Given the description of an element on the screen output the (x, y) to click on. 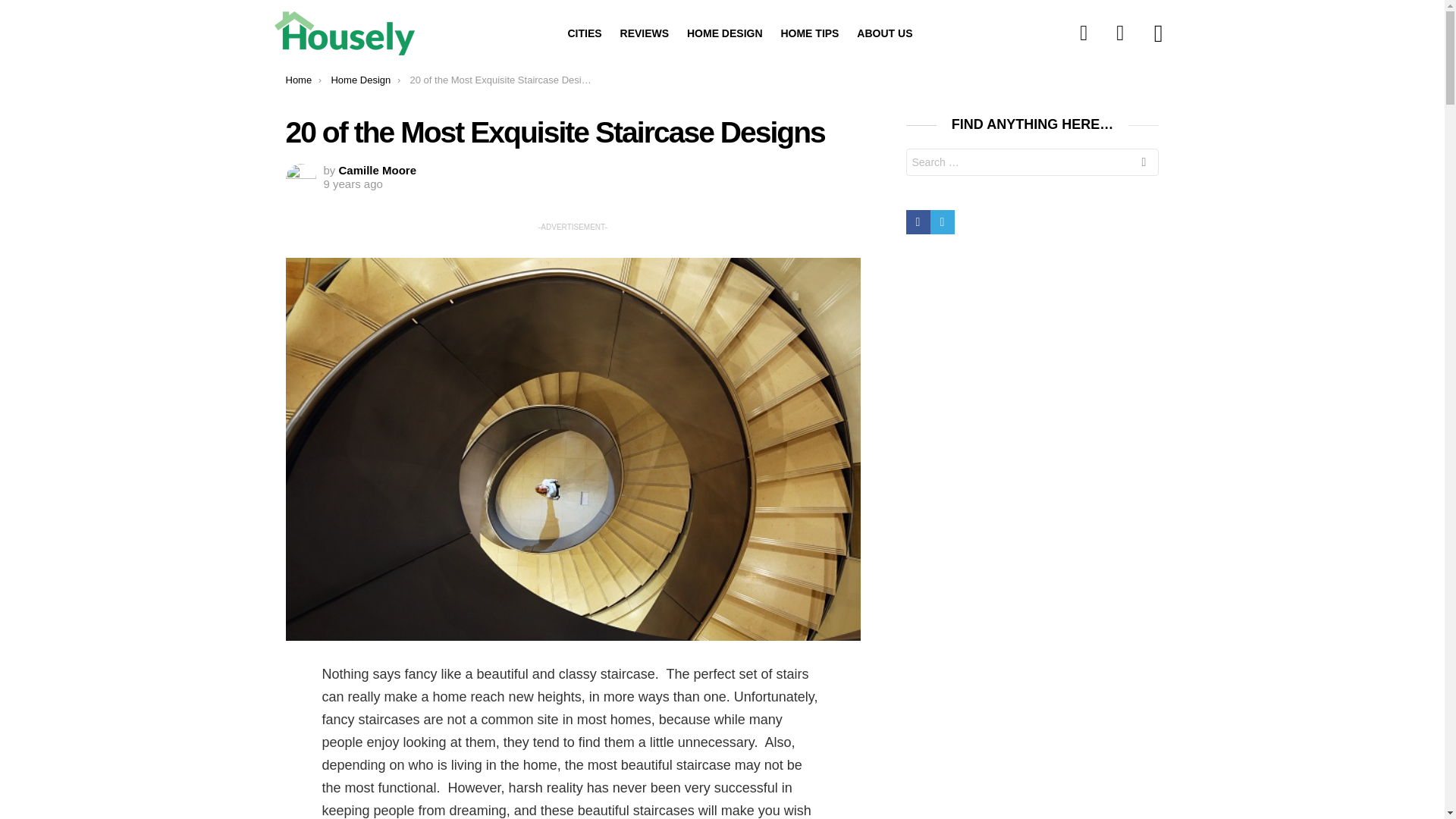
Camille Moore (377, 169)
Facebook (917, 221)
CITIES (583, 33)
Search for: (1031, 162)
ABOUT US (884, 33)
Facebook (1083, 33)
Twitter (1120, 33)
HOME DESIGN (724, 33)
Home Design (360, 79)
HOME TIPS (809, 33)
April 17, 2015, 9:03 am (352, 183)
SEARCH (1143, 163)
REVIEWS (644, 33)
Posts by Camille Moore (377, 169)
Twitter (941, 221)
